Given the description of an element on the screen output the (x, y) to click on. 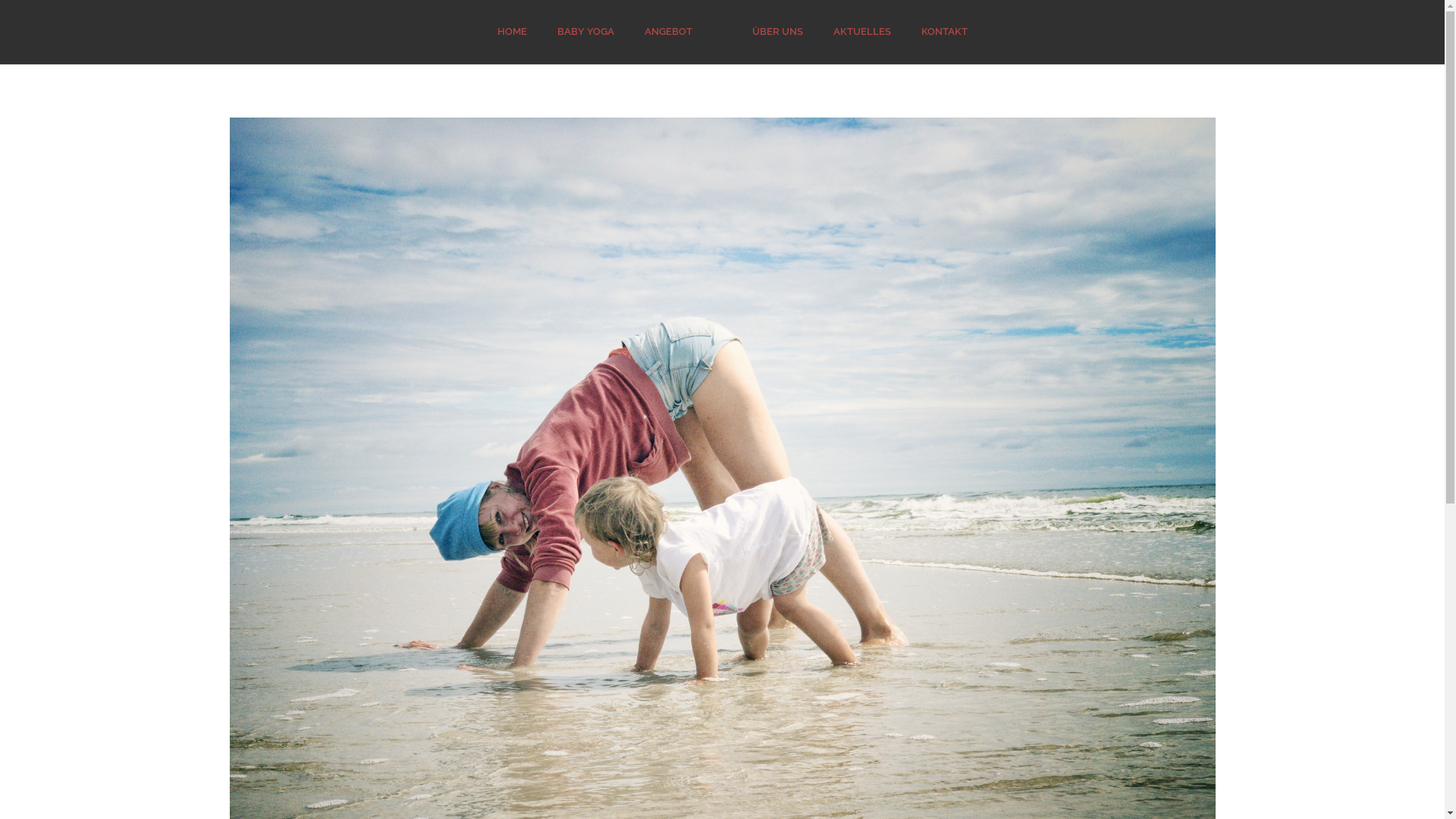
KONTAKT Element type: text (944, 31)
HOME Element type: text (512, 31)
BABY YOGA Element type: text (585, 31)
ANGEBOT Element type: text (668, 31)
AKTUELLES Element type: text (862, 31)
